Given the description of an element on the screen output the (x, y) to click on. 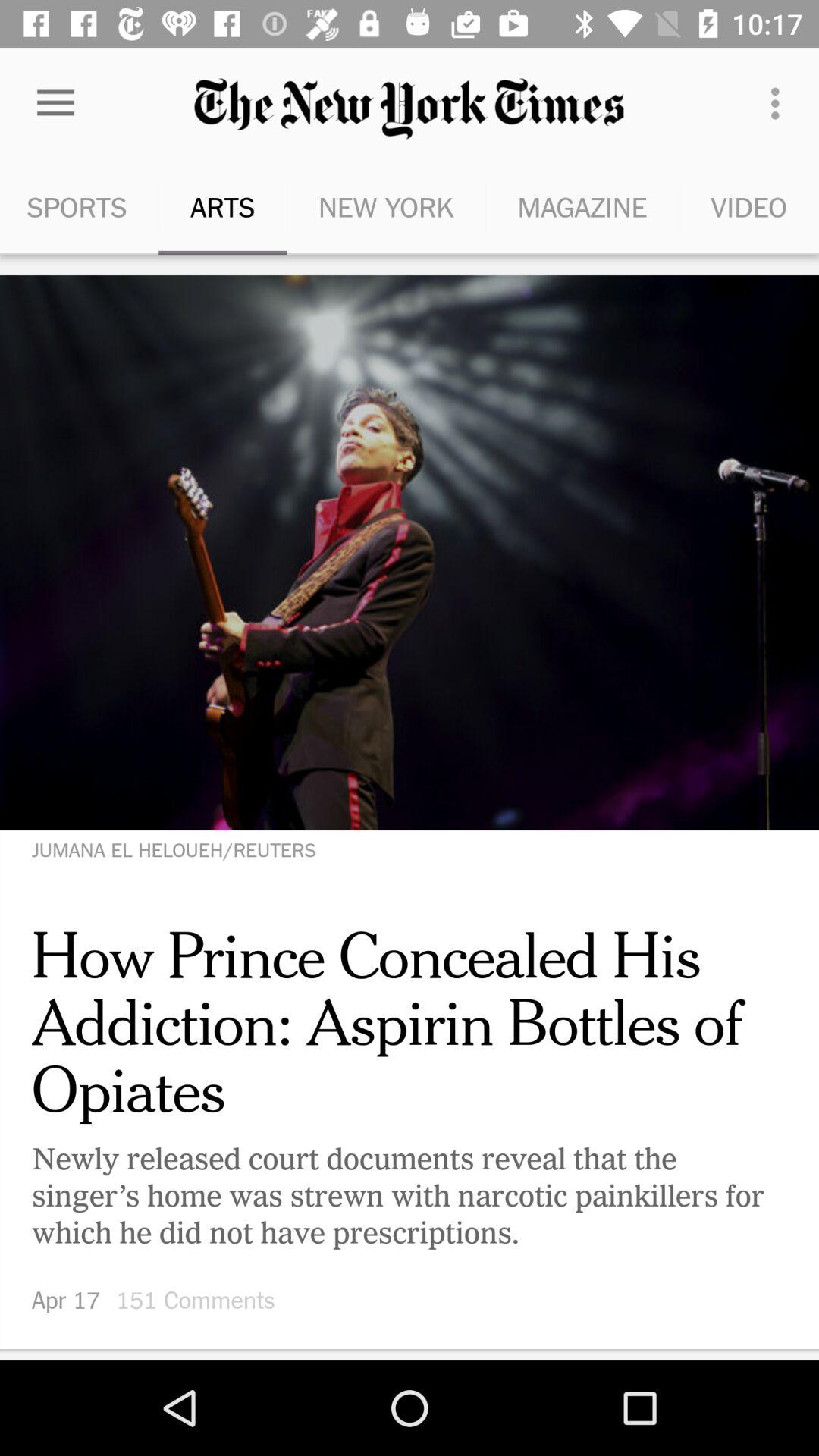
launch the icon above sports icon (55, 103)
